Given the description of an element on the screen output the (x, y) to click on. 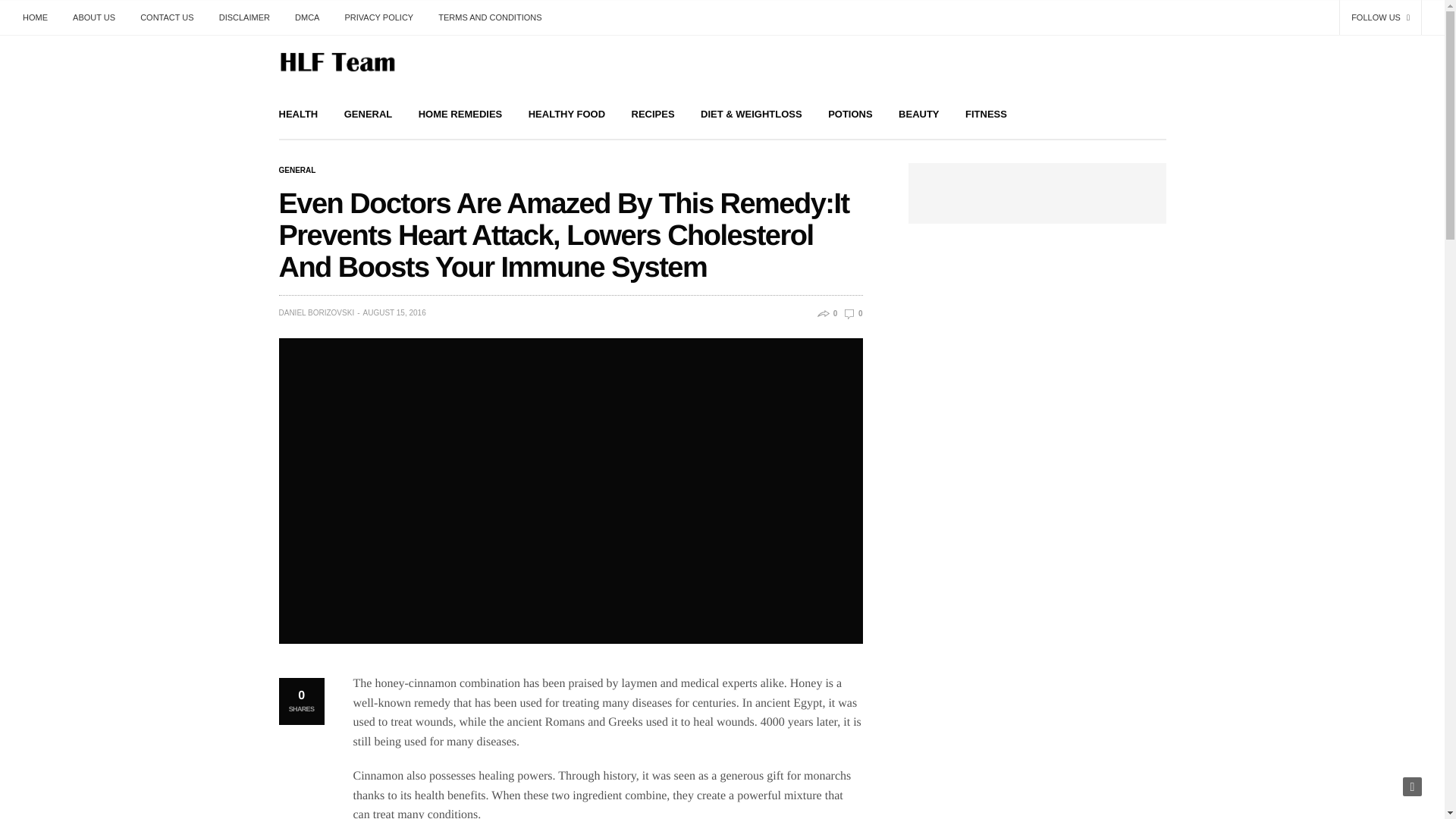
PRIVACY POLICY (379, 17)
BEAUTY (918, 113)
HOME (41, 17)
HOME REMEDIES (460, 113)
HEALTH (298, 113)
DANIEL BORIZOVSKI (317, 312)
Posts by Daniel Borizovski (317, 312)
POTIONS (850, 113)
HEALTHY FOOD (566, 113)
RECIPES (653, 113)
